Given the description of an element on the screen output the (x, y) to click on. 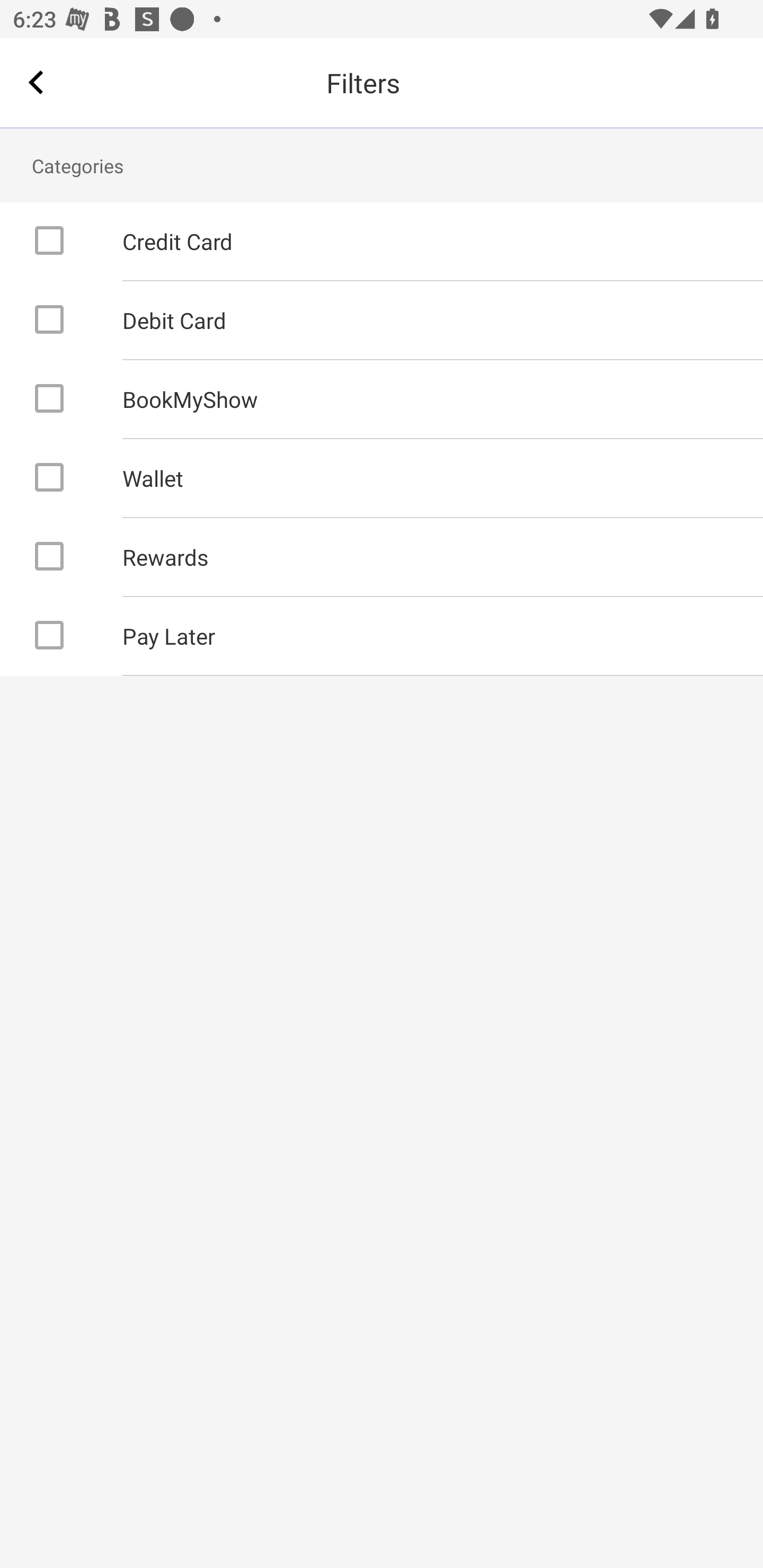
Back (35, 81)
Credit Card (381, 241)
Debit Card (381, 320)
BookMyShow (381, 399)
Wallet (381, 478)
Rewards (381, 557)
Pay Later (381, 636)
